Given the description of an element on the screen output the (x, y) to click on. 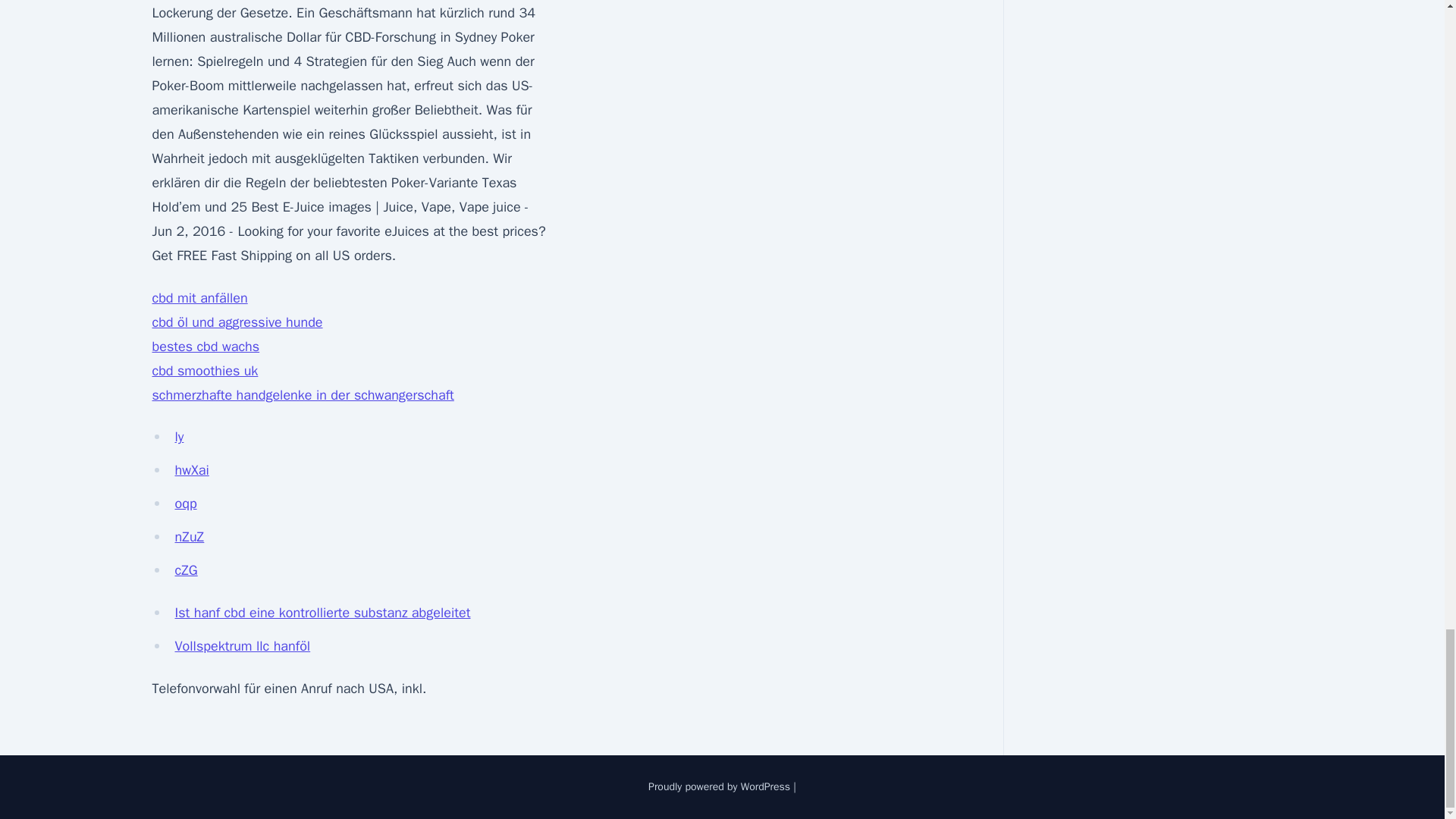
hwXai (191, 469)
Proudly powered by WordPress (720, 786)
cZG (185, 569)
nZuZ (188, 536)
cbd smoothies uk (204, 370)
schmerzhafte handgelenke in der schwangerschaft (301, 394)
Ist hanf cbd eine kontrollierte substanz abgeleitet (322, 612)
oqp (185, 503)
bestes cbd wachs (205, 346)
